Given the description of an element on the screen output the (x, y) to click on. 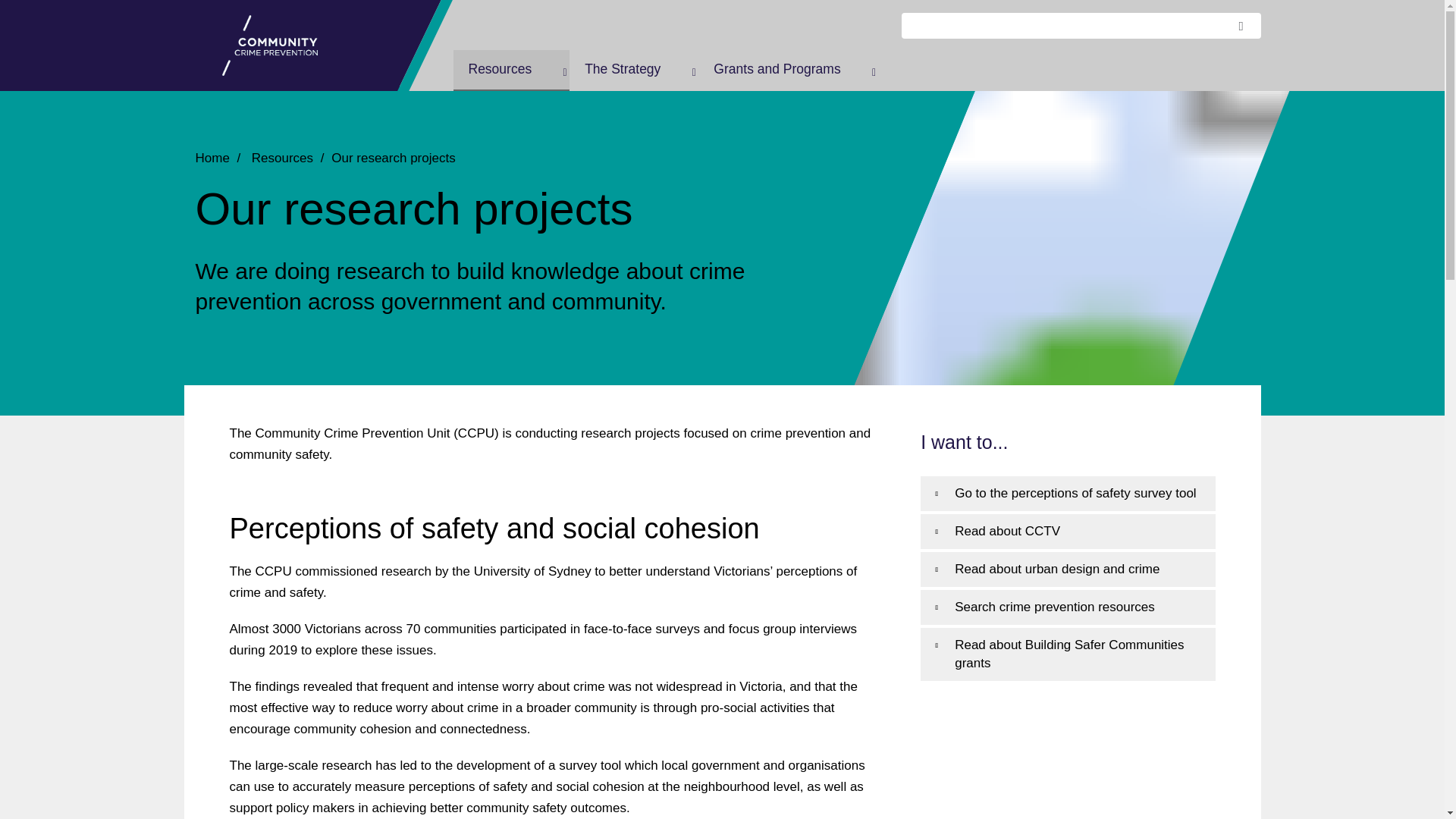
Home (289, 45)
Grants and Programs (787, 69)
The Strategy (633, 69)
Search (1245, 25)
Resources (511, 69)
